Given the description of an element on the screen output the (x, y) to click on. 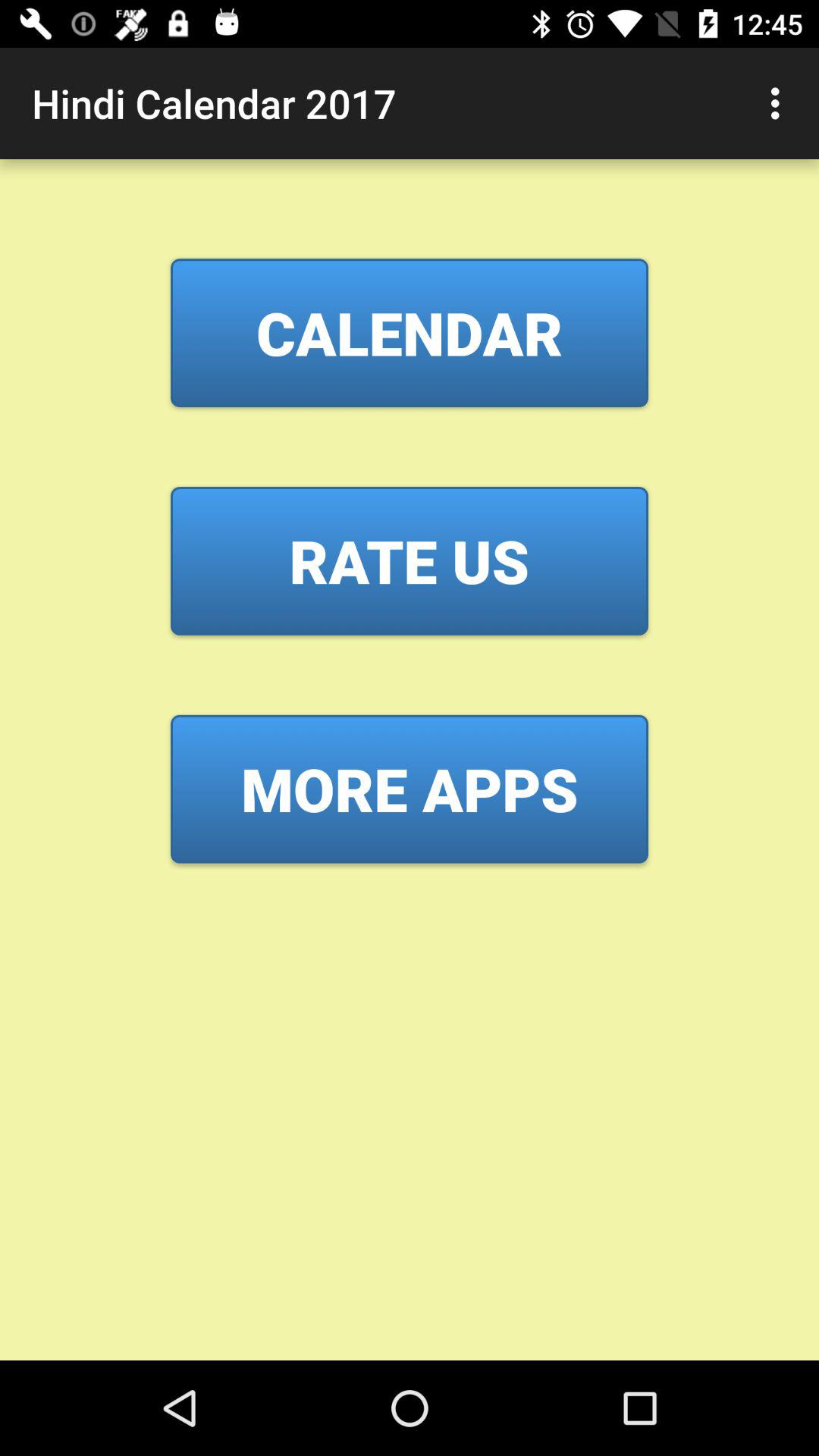
turn off item below rate us item (409, 788)
